Given the description of an element on the screen output the (x, y) to click on. 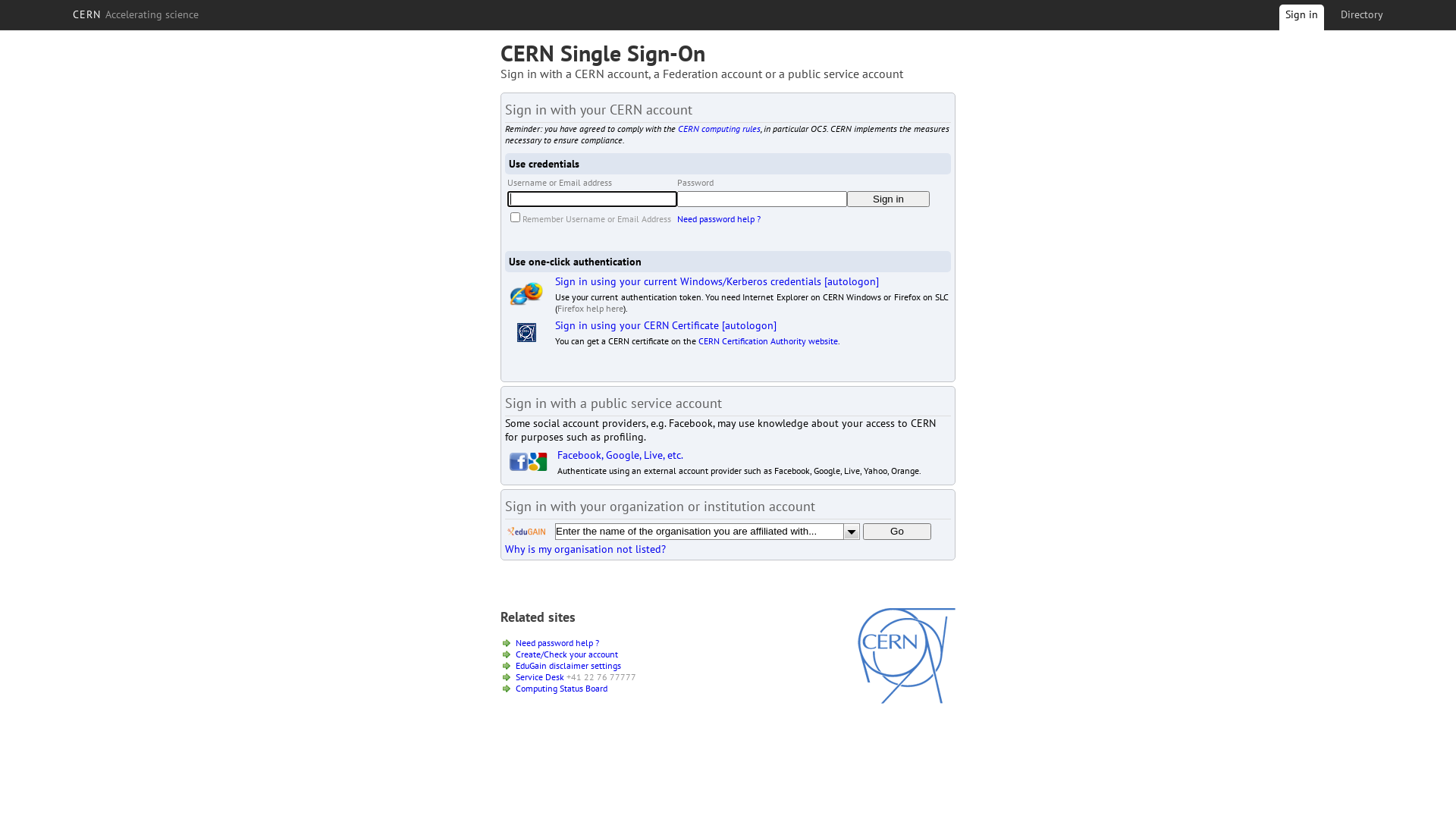
Computing Status Board Element type: text (561, 687)
Facebook, Google, Live, etc. Element type: text (620, 454)
Need password help ? Element type: text (718, 218)
CERN Single Sign-On Element type: text (602, 52)
Directory Element type: text (1361, 14)
[show debug information] Element type: text (549, 565)
CERN Certification Authority website Element type: text (767, 340)
Why is my organisation not listed? Element type: text (585, 548)
Sign in using your CERN Certificate Element type: text (636, 325)
[autologon] Element type: text (851, 281)
Need password help ? Element type: text (557, 642)
[autologon] Element type: text (748, 325)
Sign in Element type: text (888, 199)
CERN Element type: hover (906, 699)
Firefox help here Element type: text (590, 307)
Go Element type: text (896, 531)
Create/Check your account Element type: text (566, 653)
Sign in Element type: text (1301, 19)
EduGain disclaimer settings Element type: text (568, 665)
Sign in using your current Windows/Kerberos credentials Element type: text (688, 281)
Enter your Username or Email Address Element type: hover (592, 199)
CERN Accelerating science Element type: text (135, 14)
CERN computing rules Element type: text (718, 128)
Service Desk Element type: text (539, 676)
